Given the description of an element on the screen output the (x, y) to click on. 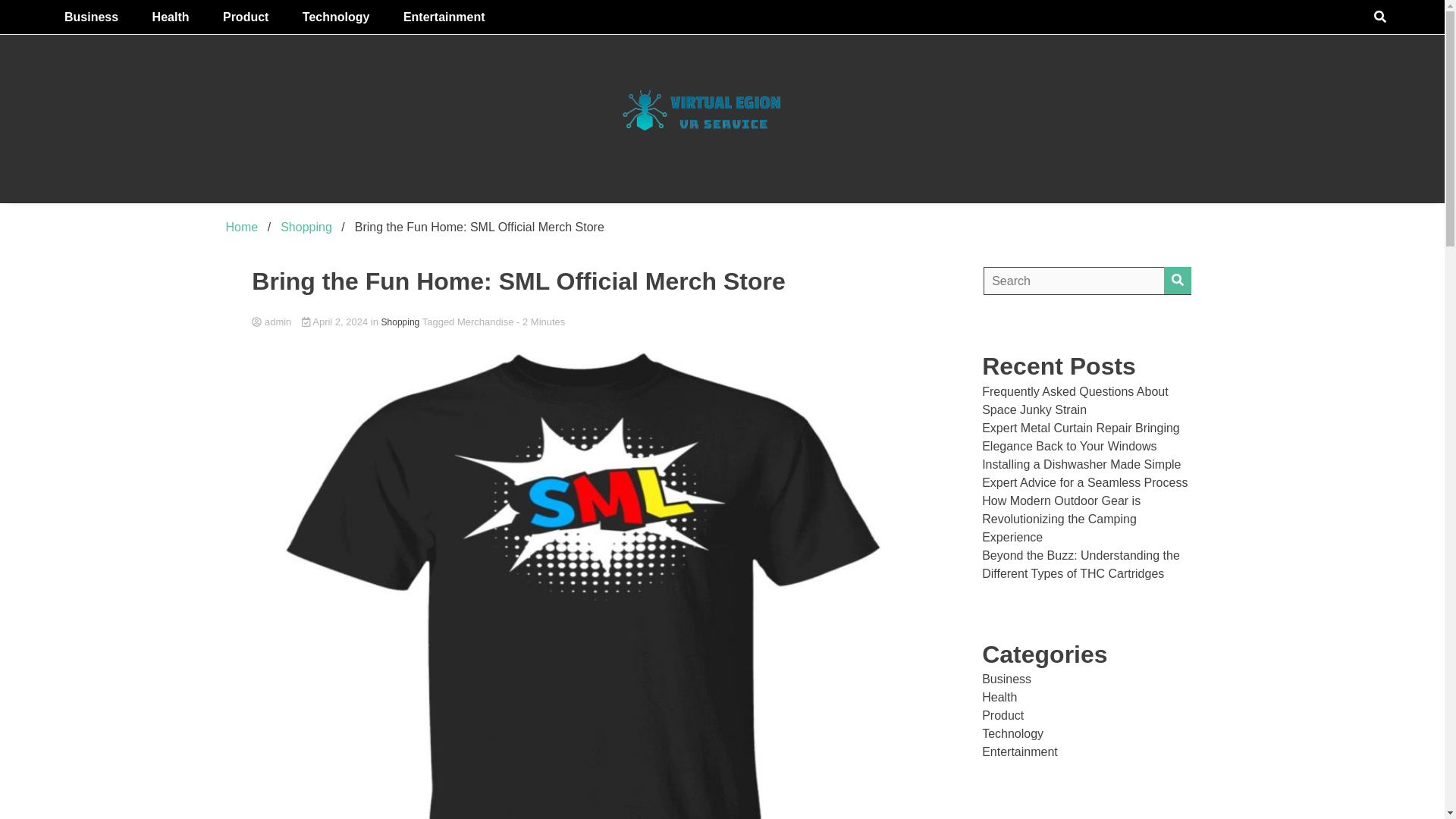
April 2, 2024 (336, 321)
Entertainment (444, 17)
Shopping (400, 322)
Technology (335, 17)
Home (242, 226)
Shopping (306, 226)
Virtual Egion (856, 221)
